Given the description of an element on the screen output the (x, y) to click on. 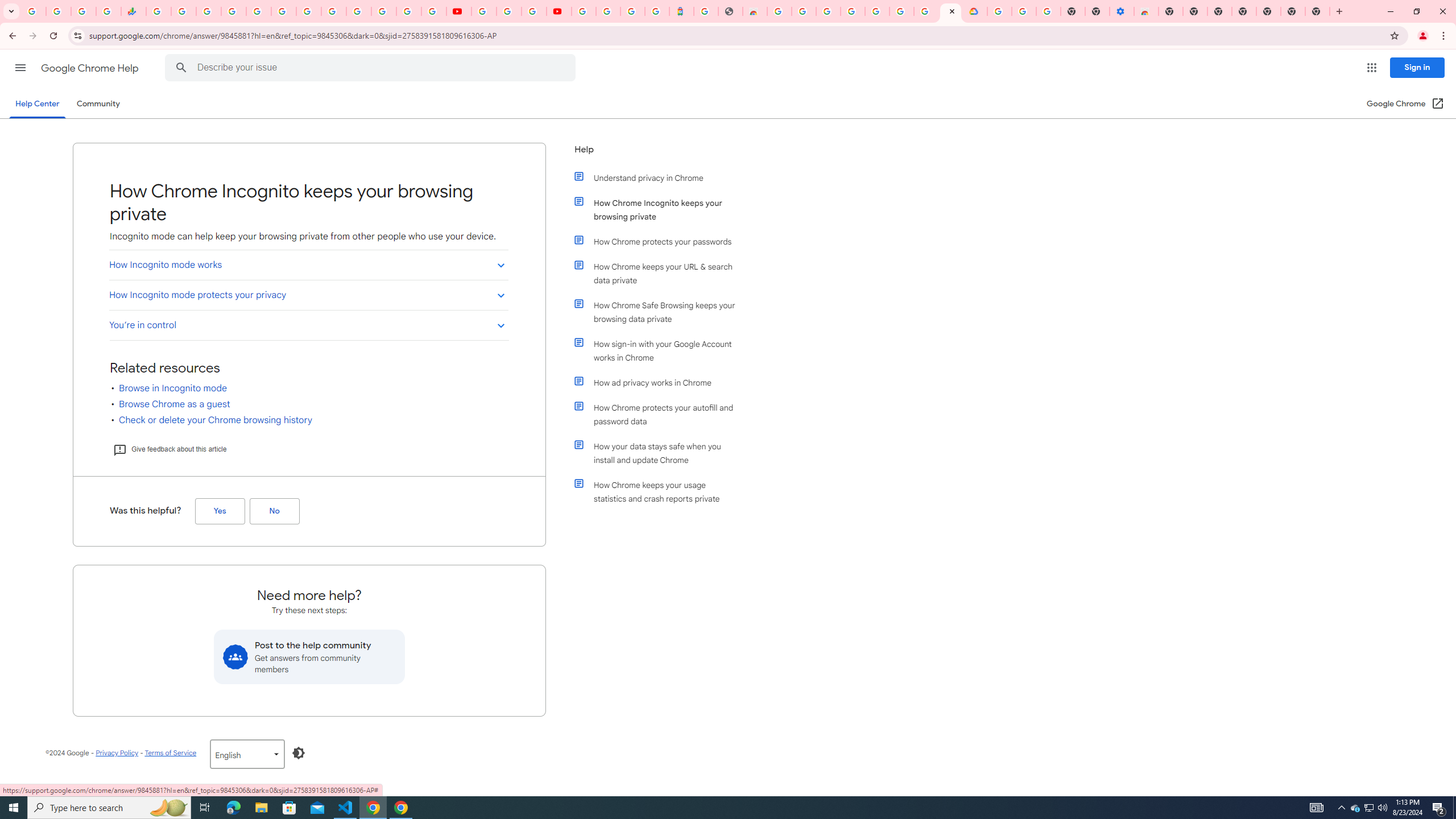
Create your Google Account (533, 11)
Google Account Help (509, 11)
Content Creator Programs & Opportunities - YouTube Creators (558, 11)
Sign in (1417, 67)
Ad Settings (827, 11)
Turn cookies on or off - Computer - Google Account Help (1047, 11)
Google Workspace Admin Community (33, 11)
Give feedback about this article (169, 449)
Create your Google Account (925, 11)
How Chrome protects your passwords (661, 241)
